Given the description of an element on the screen output the (x, y) to click on. 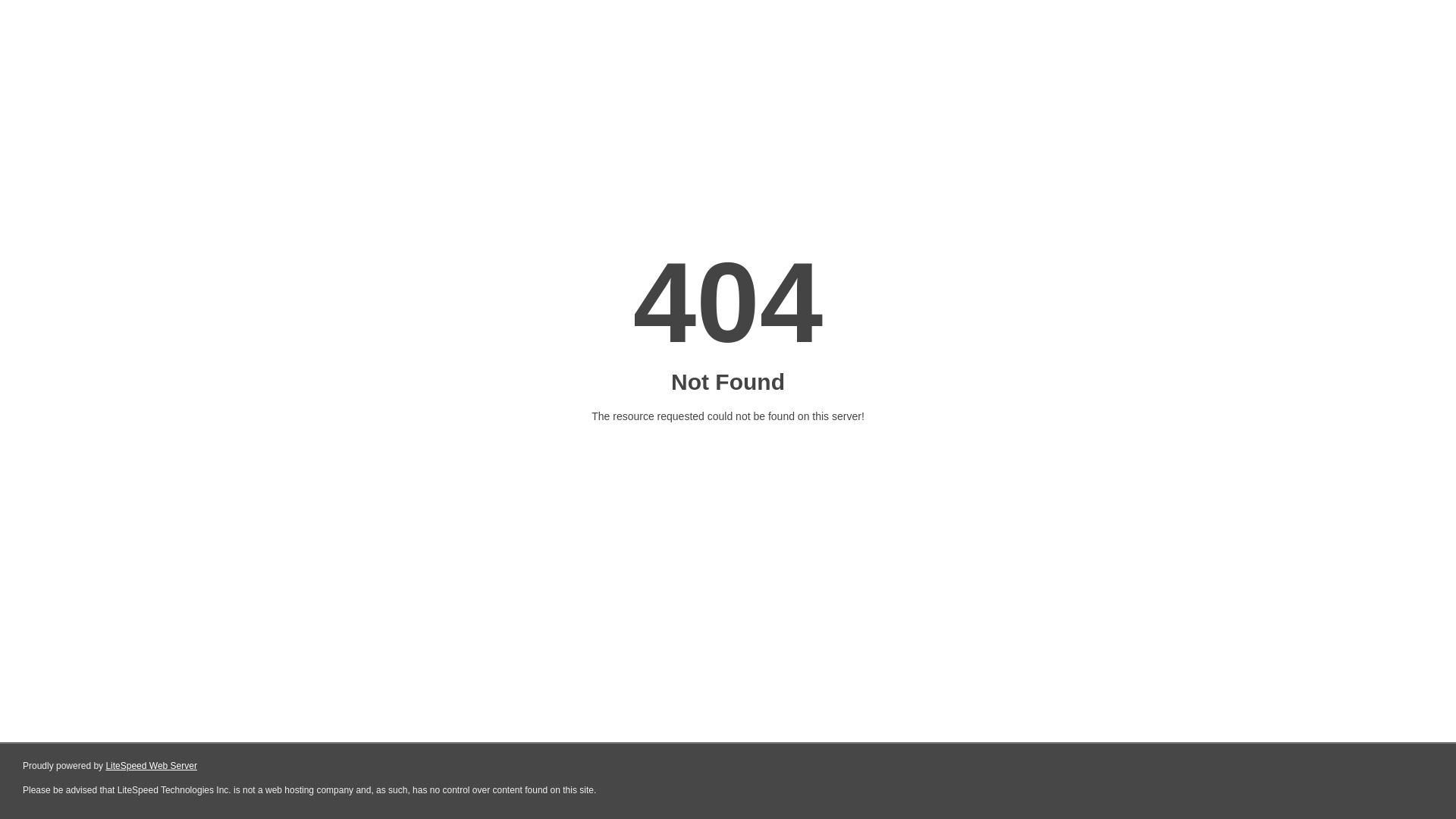
LiteSpeed Web Server Element type: text (151, 765)
